Given the description of an element on the screen output the (x, y) to click on. 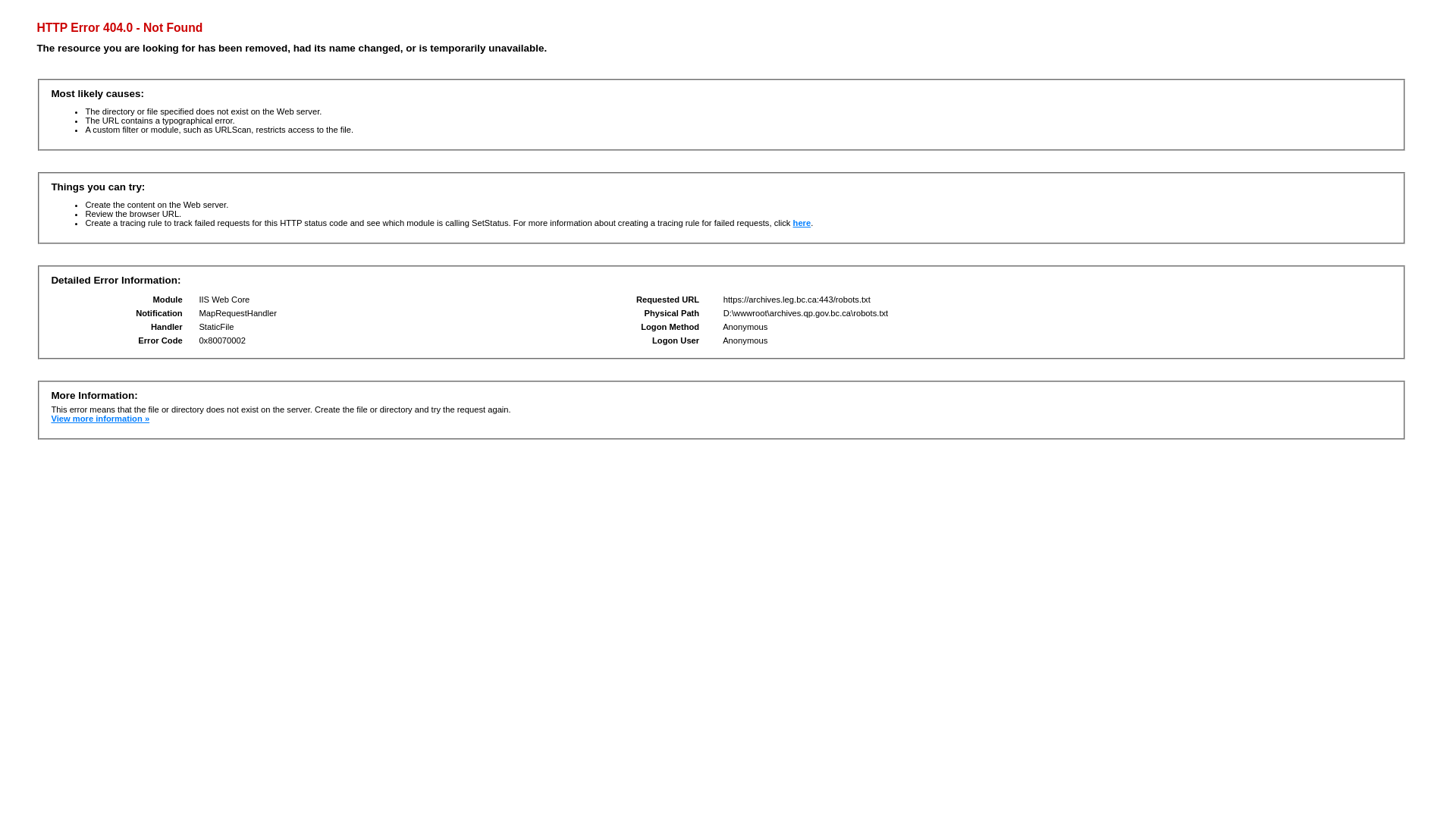
here Element type: text (802, 222)
